Given the description of an element on the screen output the (x, y) to click on. 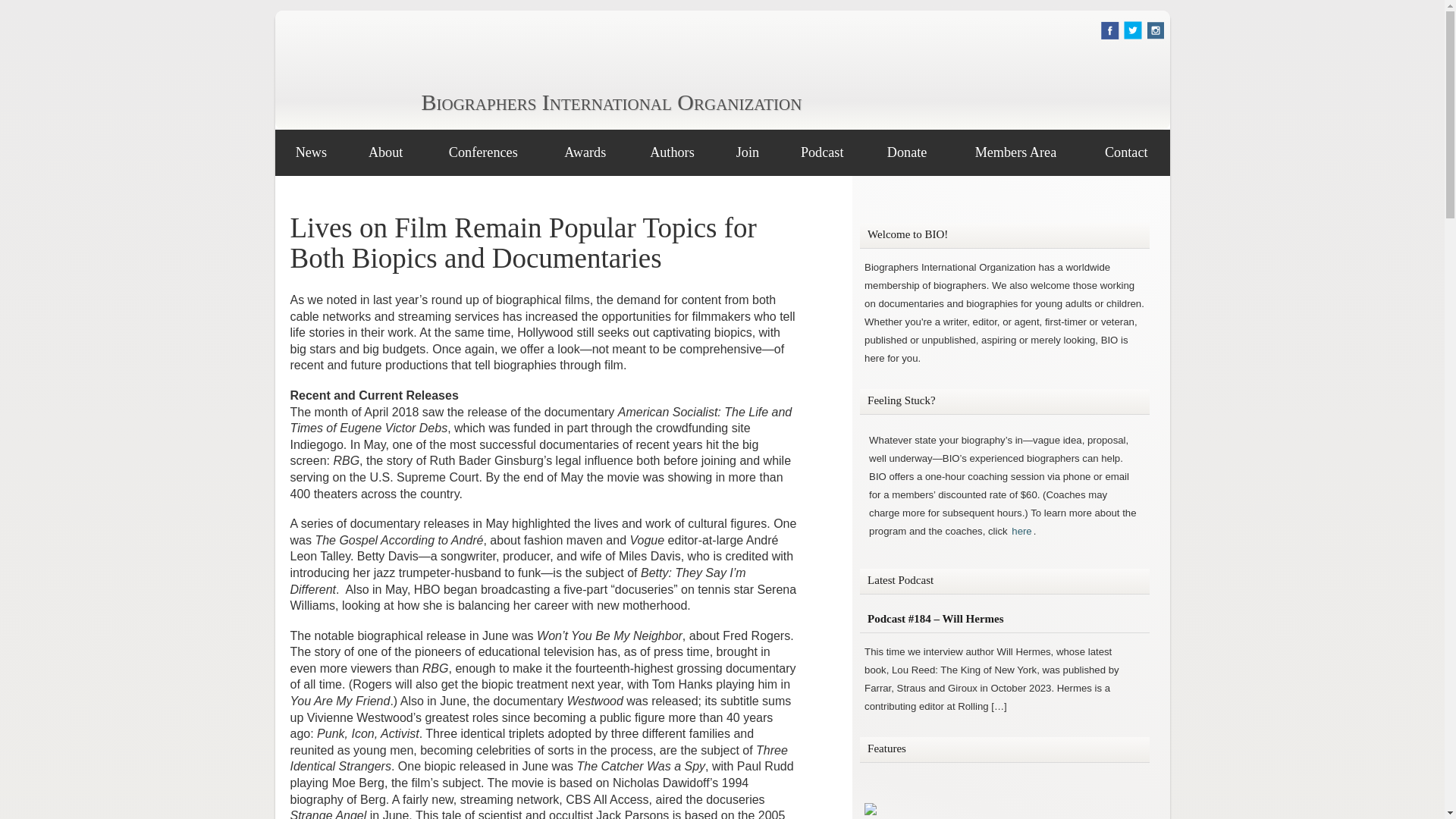
Podcast (821, 152)
Contact (1126, 152)
Like us on Facebook (1109, 34)
Conferences (483, 152)
Authors (671, 152)
Join (747, 152)
News (311, 152)
View our Instagram Page (1155, 34)
here (1021, 531)
About (385, 152)
